Given the description of an element on the screen output the (x, y) to click on. 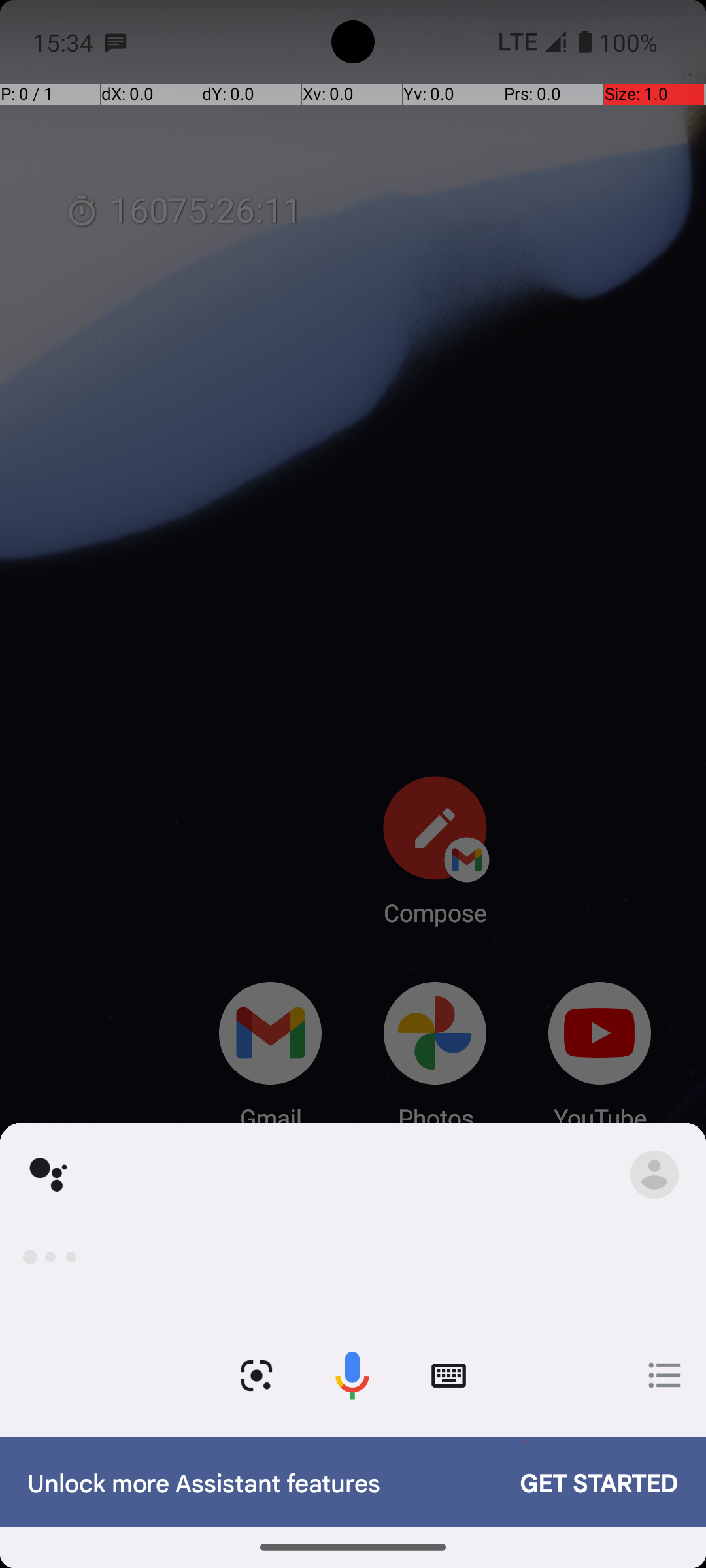
Tap to dismiss Assistant Element type: android.view.ViewGroup (353, 804)
Google Assistant widget. Element type: android.support.v7.widget.RecyclerView (353, 1347)
Voice search button, tap to speak Element type: android.view.View (351, 1375)
Type mode Element type: android.widget.ImageView (448, 1375)
Unlock more Assistant features Element type: android.widget.TextView (259, 1481)
GET STARTED Element type: android.widget.TextView (585, 1481)
Open explore page Element type: android.widget.ImageView (664, 1375)
Google assistant Element type: android.widget.ImageView (48, 1179)
Google Assistant menu. Element type: android.widget.ImageView (654, 1174)
